Given the description of an element on the screen output the (x, y) to click on. 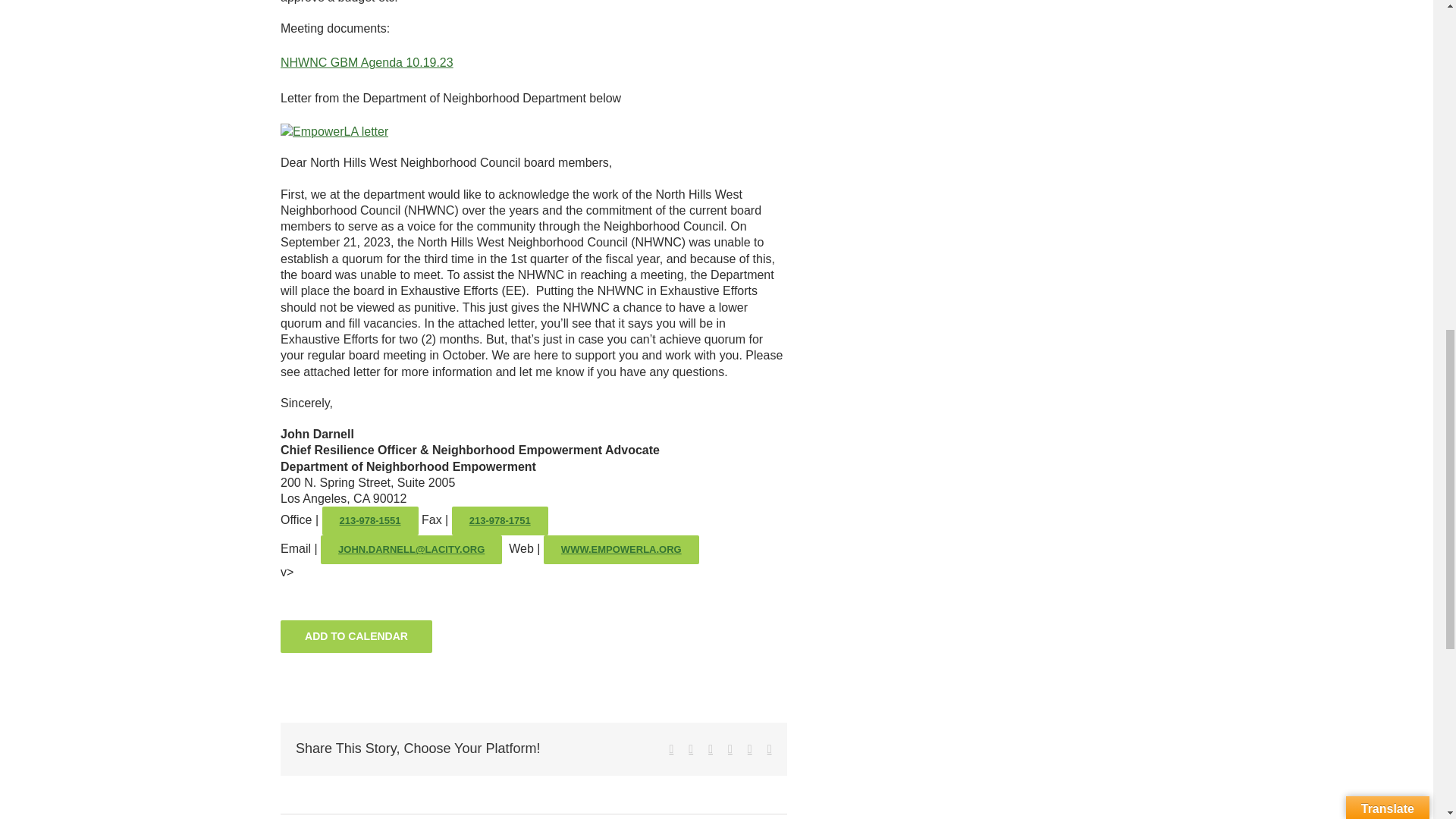
WWW.EMPOWERLA.ORG (620, 549)
NHWNC GBM Agenda 10.19.23 (366, 62)
NHWNC GBM Agenda 10.19.23 (366, 62)
213-978-1551 (370, 520)
213-978-1751 (499, 520)
ADD TO CALENDAR (355, 635)
image (334, 131)
